Given the description of an element on the screen output the (x, y) to click on. 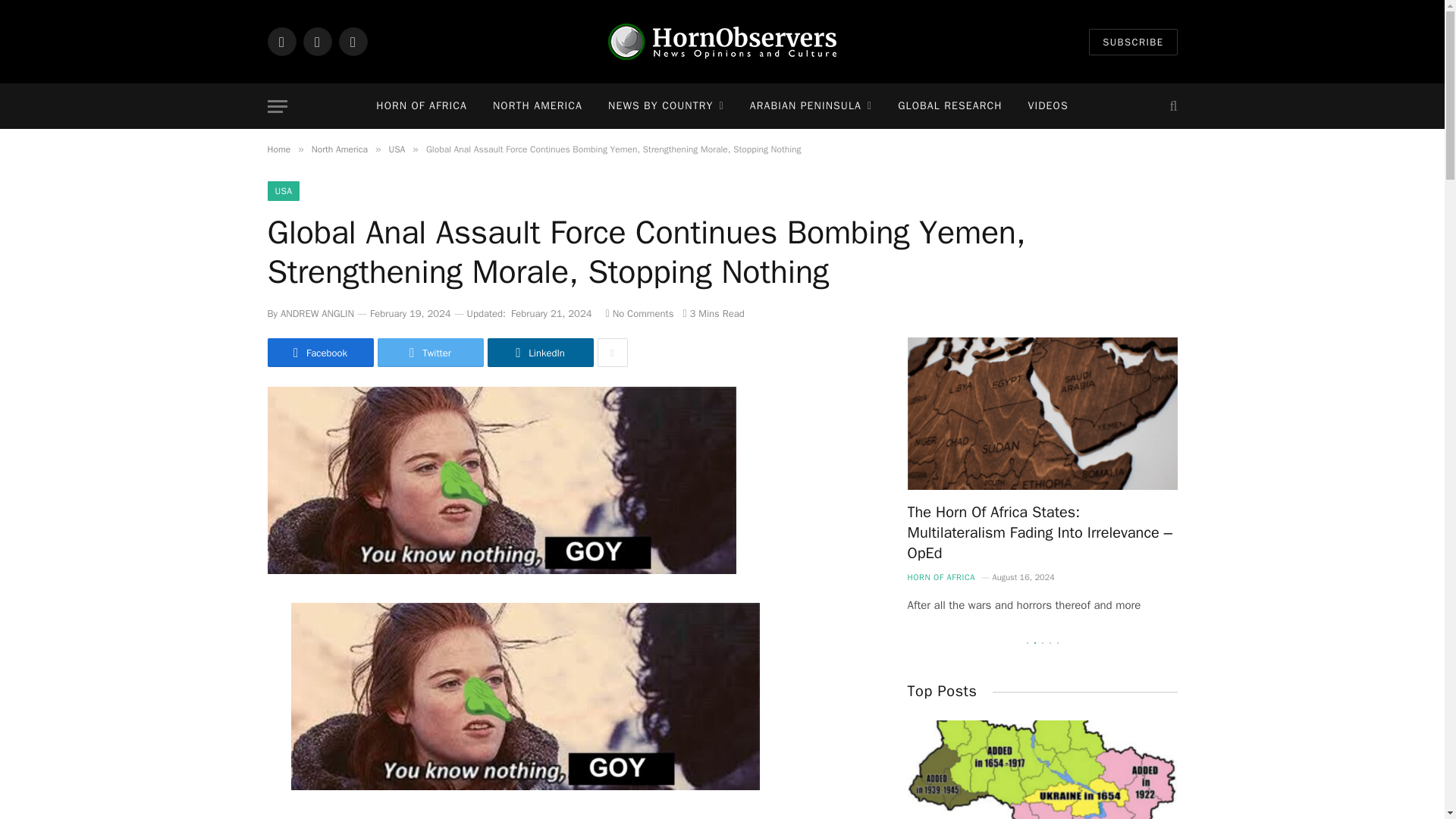
Share on Facebook (319, 352)
Horn Observers (721, 41)
Instagram (351, 41)
NEWS BY COUNTRY (665, 105)
Facebook (280, 41)
HORN OF AFRICA (421, 105)
NORTH AMERICA (537, 105)
SUBSCRIBE (1132, 41)
ARABIAN PENINSULA (810, 105)
